Given the description of an element on the screen output the (x, y) to click on. 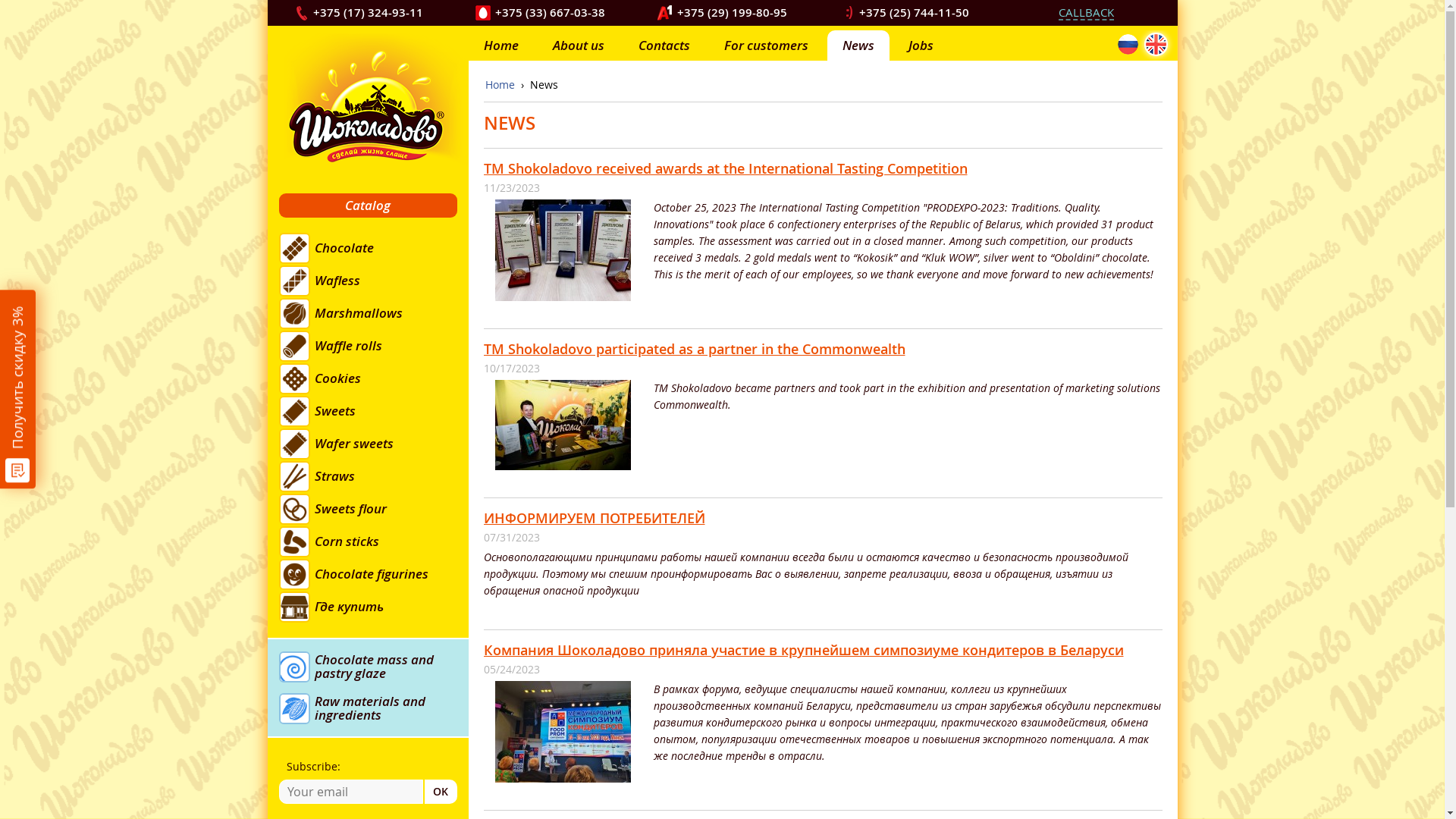
About us Element type: text (577, 45)
+375 (33) 667-03-38 Element type: text (550, 12)
For customers Element type: text (765, 45)
Contacts Element type: text (664, 45)
Sweets Element type: text (373, 410)
CALLBACK Element type: text (1085, 12)
Home Element type: text (499, 84)
+375 (25) 744-11-50 Element type: text (914, 12)
+375 (17) 324-93-11 Element type: text (368, 12)
Sweets flour Element type: text (373, 508)
Jobs Element type: text (920, 45)
Chocolate Element type: text (373, 247)
ok Element type: text (440, 791)
Catalog Element type: text (368, 205)
Cookies Element type: text (373, 378)
Marshmallows Element type: text (373, 313)
Raw materials and ingredients Element type: text (368, 708)
News Element type: text (857, 45)
Chocolate mass and pastry glaze Element type: text (368, 666)
Home Element type: text (500, 45)
Corn sticks Element type: text (373, 541)
Wafer sweets Element type: text (373, 443)
TM Shokoladovo participated as a partner in the Commonwealth Element type: text (694, 348)
Chocolate figurines Element type: text (373, 573)
Waffle rolls Element type: text (373, 345)
Straws Element type: text (373, 476)
Wafless Element type: text (373, 280)
+375 (29) 199-80-95 Element type: text (732, 12)
